Given the description of an element on the screen output the (x, y) to click on. 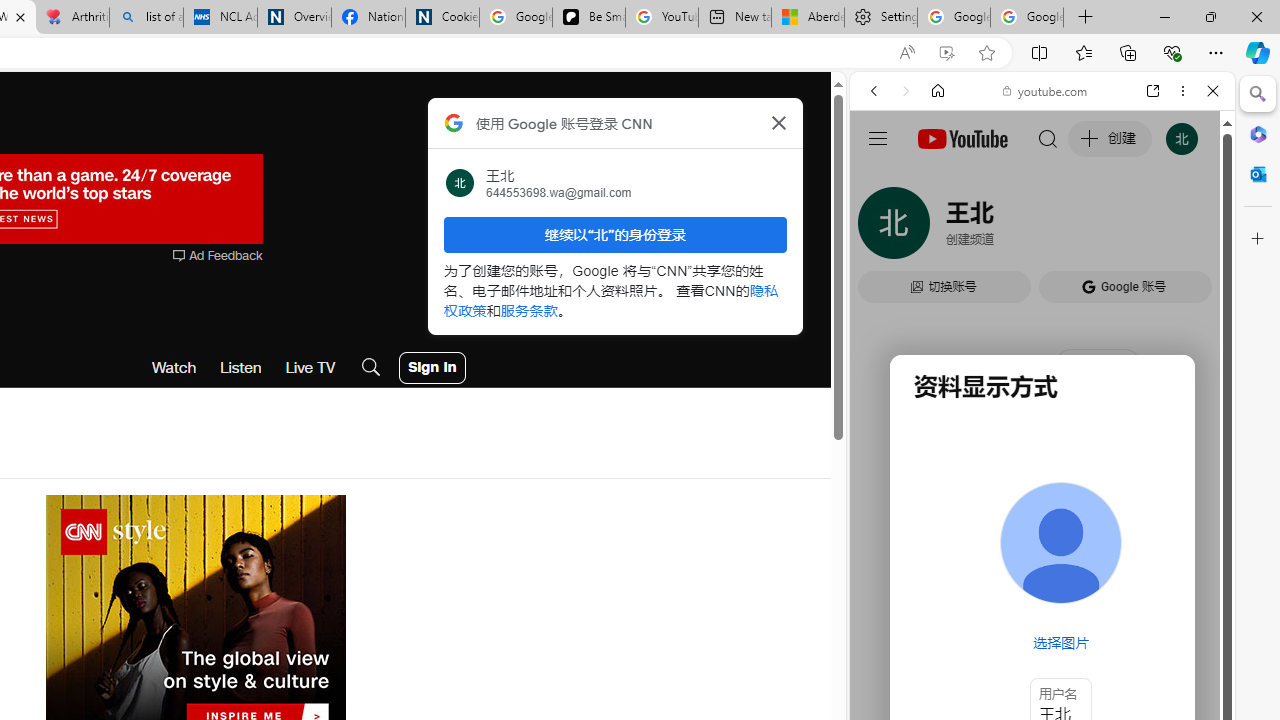
Aberdeen, Hong Kong SAR hourly forecast | Microsoft Weather (807, 17)
Music (1042, 543)
Google (1042, 494)
Trailer #2 [HD] (1042, 592)
SEARCH TOOLS (1093, 228)
Show More Music (1164, 546)
